Given the description of an element on the screen output the (x, y) to click on. 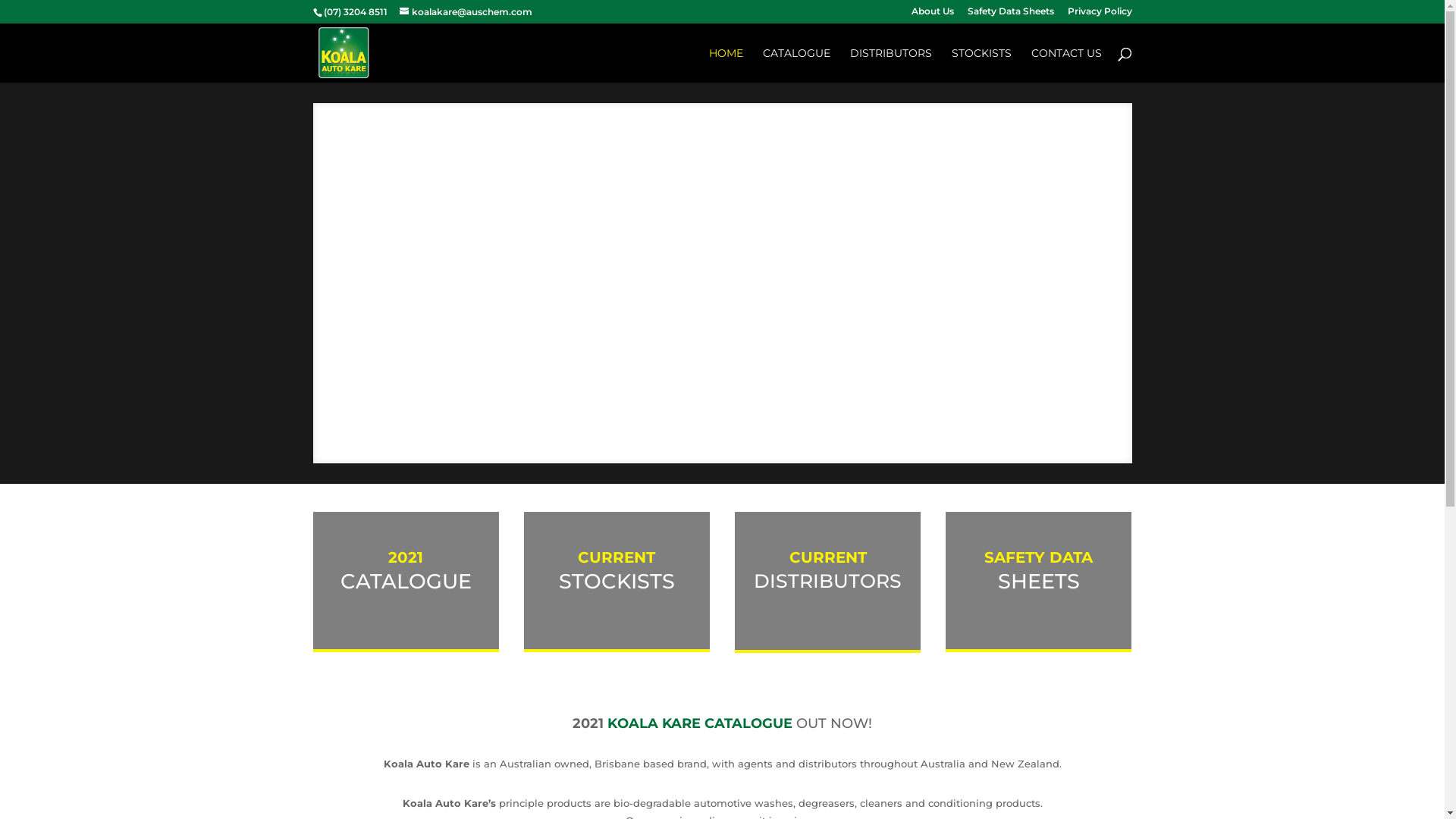
koalakare@auschem.com Element type: text (464, 11)
KOALA KARE CATALOGUE Element type: text (701, 723)
Privacy Policy Element type: text (1099, 14)
1 Element type: text (696, 432)
CURRENT Element type: text (616, 557)
STOCKISTS Element type: text (980, 64)
3 Element type: text (721, 432)
HOME Element type: text (725, 64)
About Us Element type: text (932, 14)
5 Element type: text (747, 432)
CATALOGUE Element type: text (796, 64)
CONTACT US Element type: text (1066, 64)
2 Element type: text (709, 432)
4 Element type: text (734, 432)
SAFETY DATA Element type: text (1038, 557)
2021 Element type: text (405, 557)
Safety Data Sheets Element type: text (1010, 14)
CURRENT Element type: text (827, 557)
DISTRIBUTORS Element type: text (890, 64)
